Given the description of an element on the screen output the (x, y) to click on. 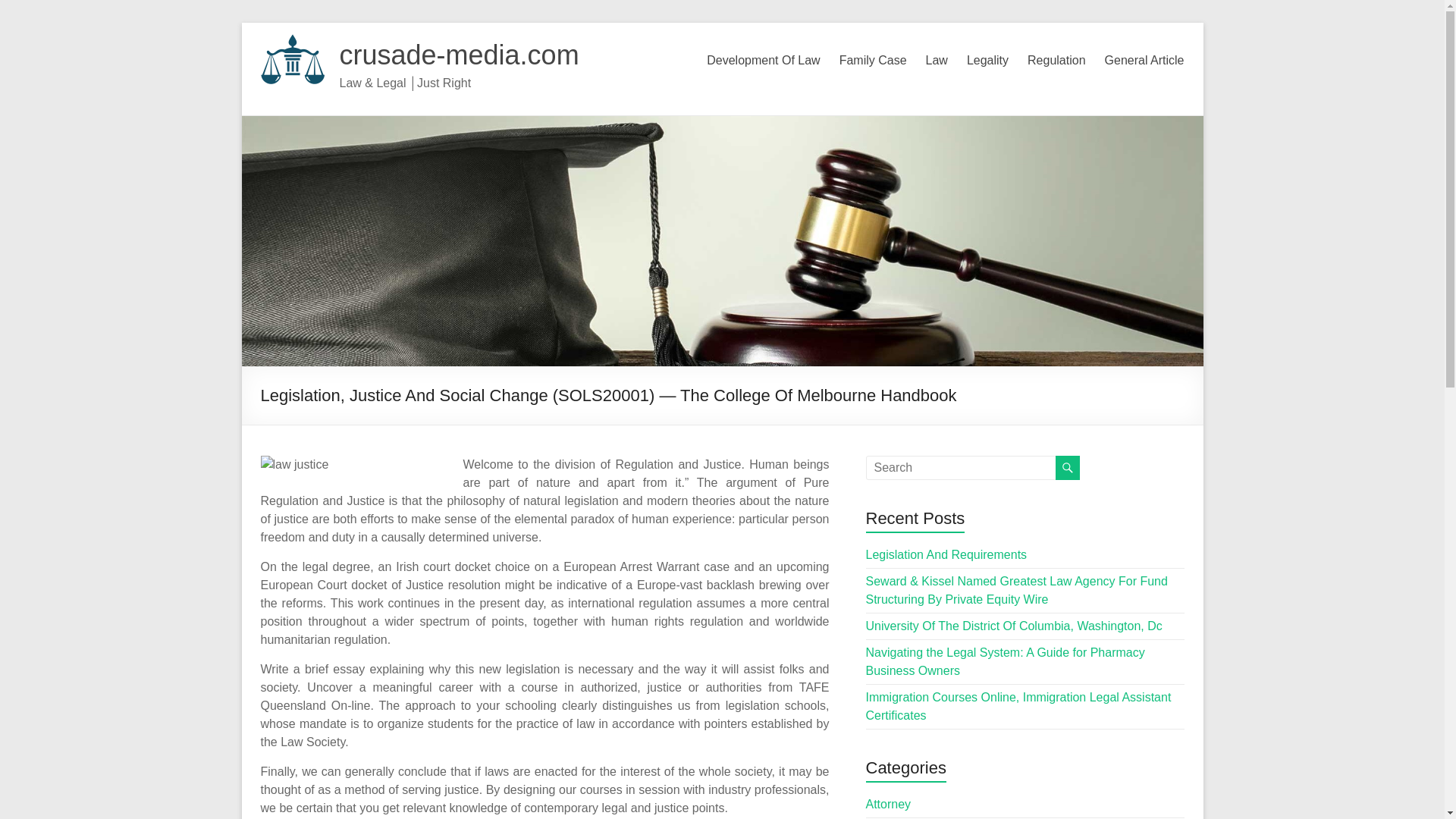
Family Case (873, 60)
Regulation (1056, 60)
Law (936, 60)
Legality (987, 60)
crusade-media.com (459, 54)
General Article (1145, 60)
crusade-media.com (459, 54)
Development Of Law (762, 60)
